Given the description of an element on the screen output the (x, y) to click on. 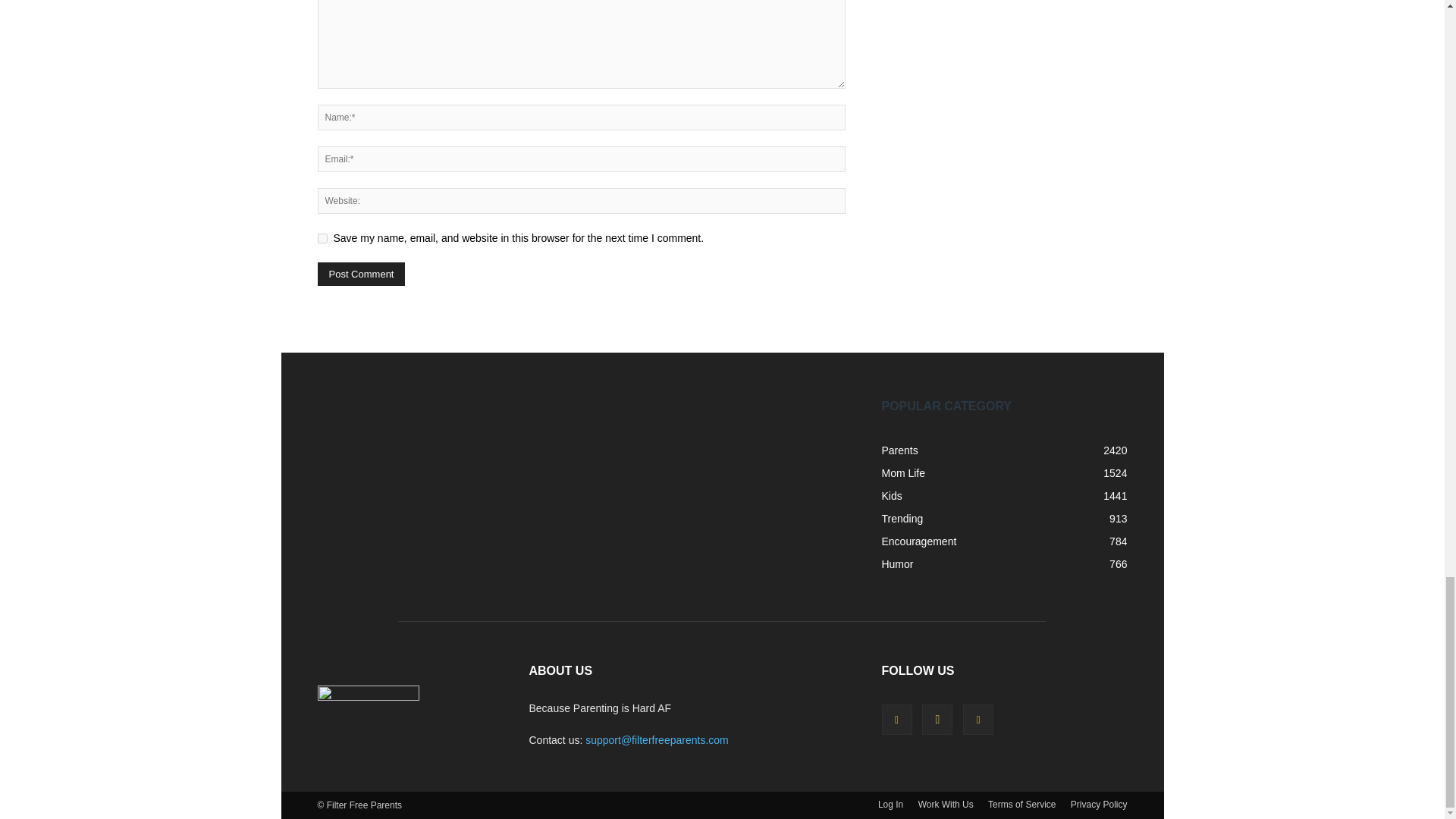
yes (321, 238)
Post Comment (360, 273)
